Given the description of an element on the screen output the (x, y) to click on. 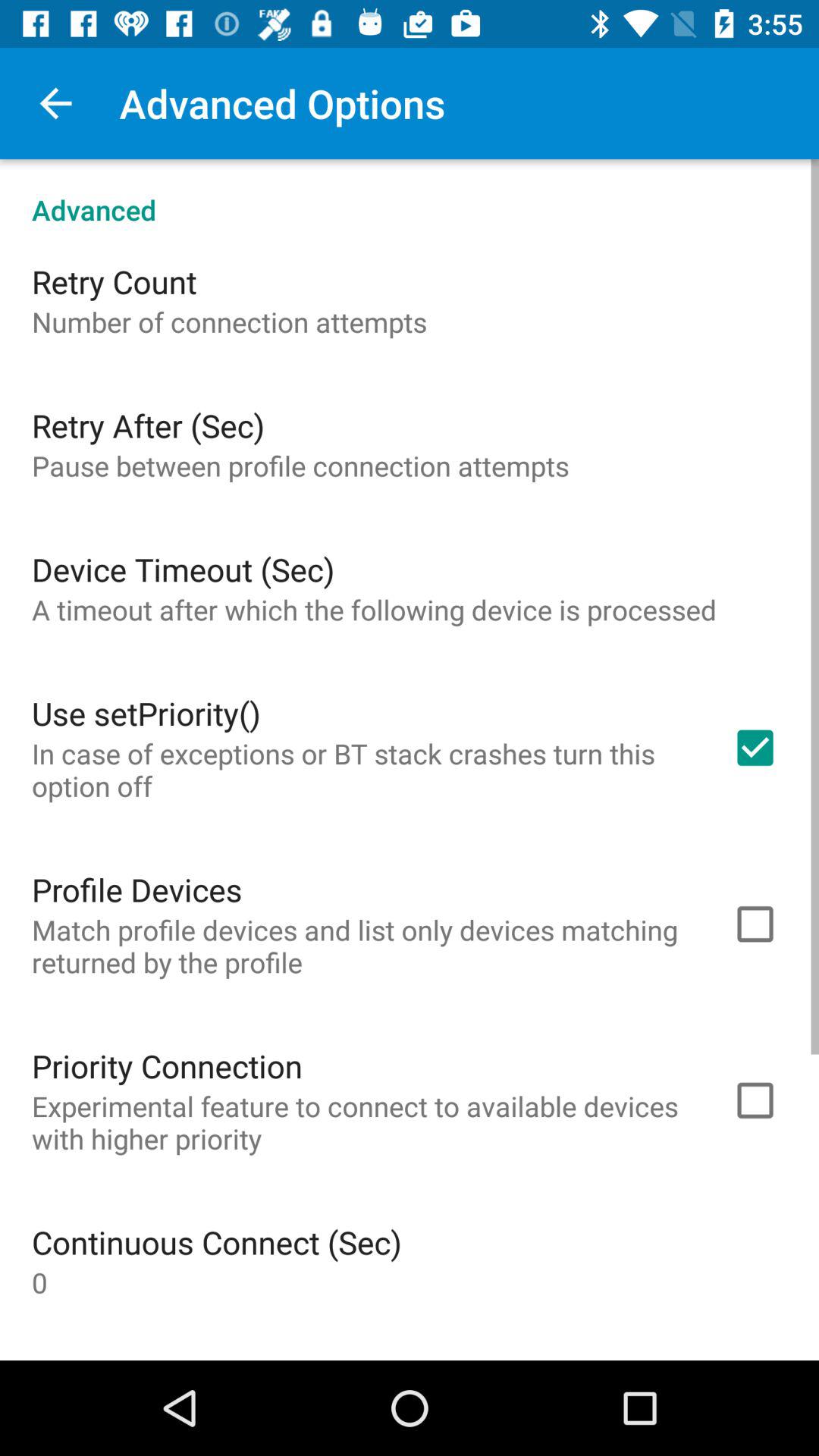
click the icon above retry after (sec) (229, 321)
